Given the description of an element on the screen output the (x, y) to click on. 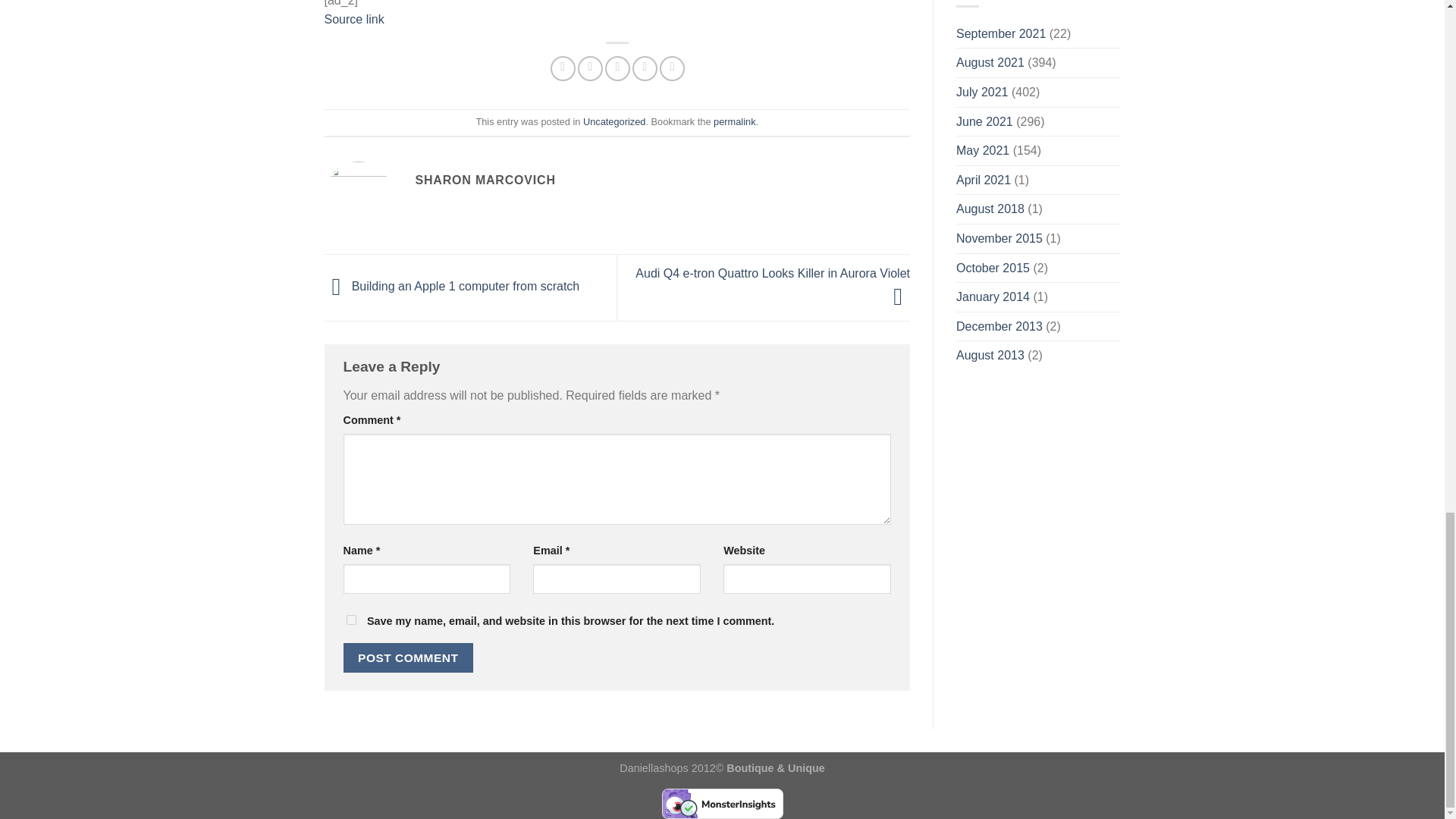
Share on Twitter (590, 68)
Email to a Friend (617, 68)
Share on Telegram (671, 68)
yes (350, 619)
Share on Facebook (562, 68)
Pin on Pinterest (644, 68)
Source link (354, 19)
Post Comment (407, 657)
